Given the description of an element on the screen output the (x, y) to click on. 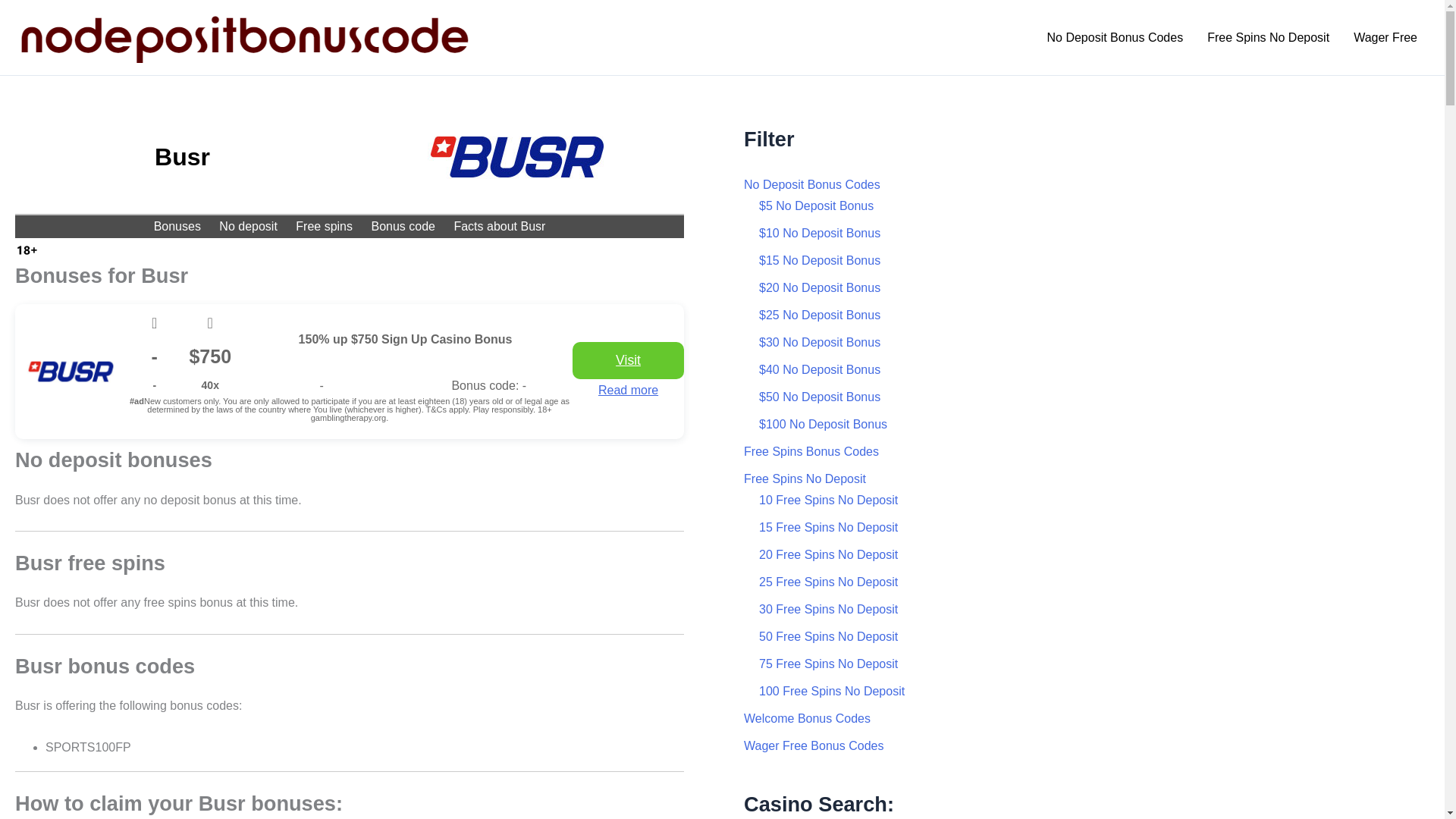
No Deposit Bonus Codes (1114, 37)
Wager Free (1384, 37)
Free Spins No Deposit (1267, 37)
